Given the description of an element on the screen output the (x, y) to click on. 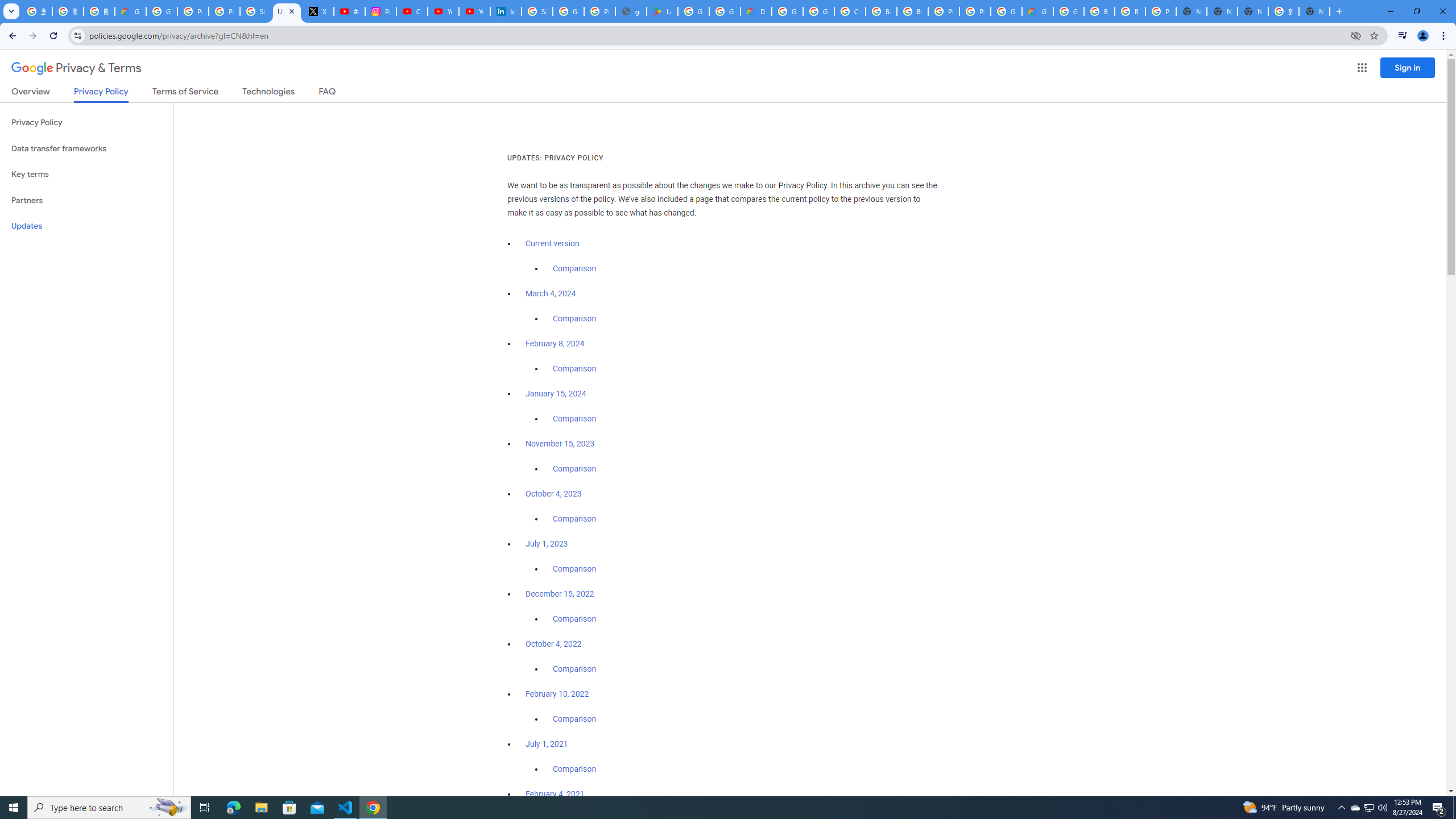
March 4, 2024 (550, 293)
Google Cloud Estimate Summary (1037, 11)
X (318, 11)
Browse Chrome as a guest - Computer - Google Chrome Help (1098, 11)
